Given the description of an element on the screen output the (x, y) to click on. 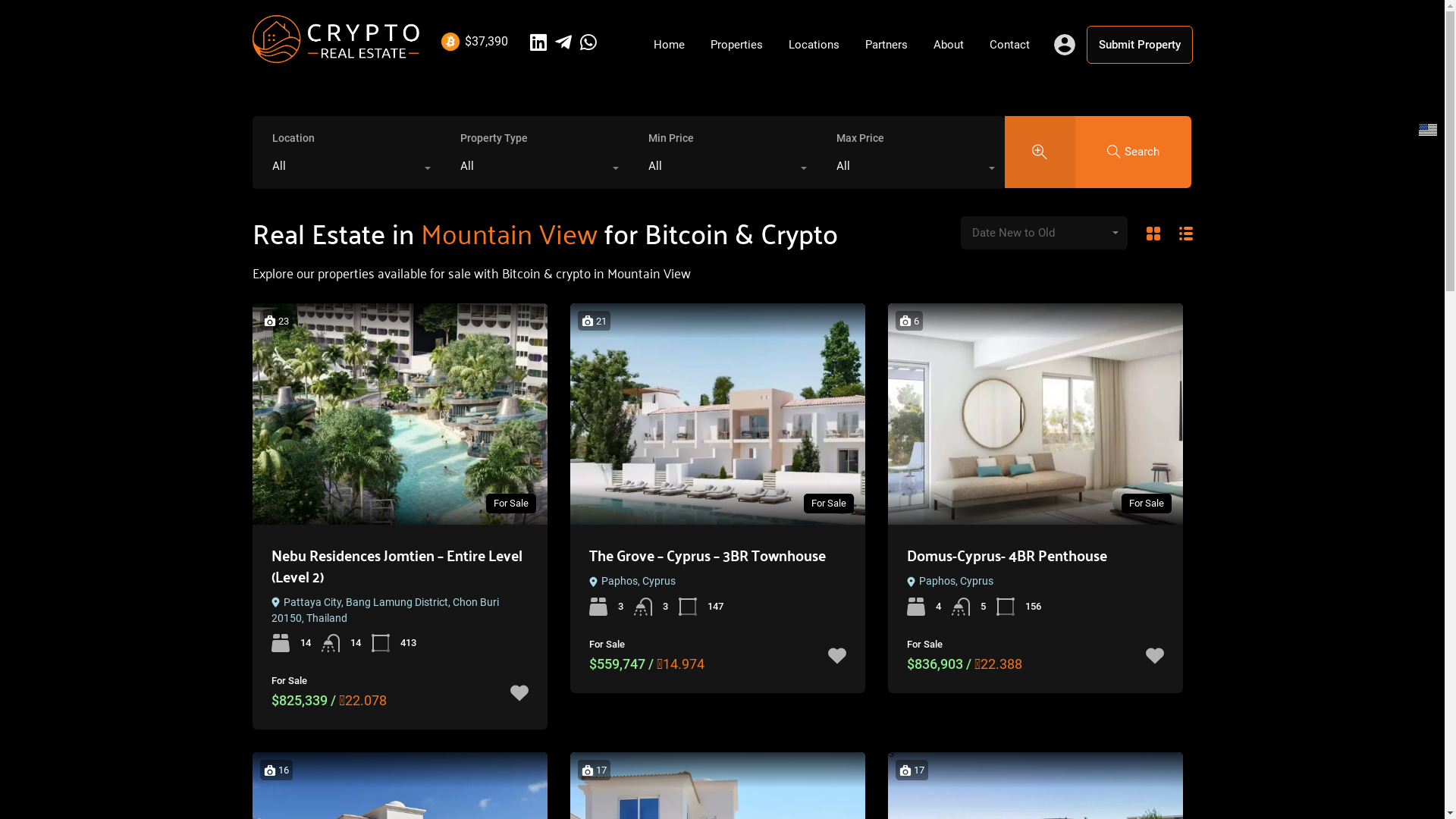
Crypto Real Estate Element type: hover (334, 55)
All Element type: text (534, 169)
Domus-Cyprus- 4BR Penthouse Element type: text (1006, 554)
Locations Element type: text (813, 44)
Date New to Old Element type: text (1043, 232)
Search Element type: text (1133, 151)
Home Element type: text (668, 44)
Partners Element type: text (886, 44)
All Element type: text (346, 169)
Properties Element type: text (736, 44)
Submit Property Element type: text (1138, 44)
Contact Element type: text (1009, 44)
All Element type: text (722, 169)
About Element type: text (948, 44)
All Element type: text (910, 169)
